Given the description of an element on the screen output the (x, y) to click on. 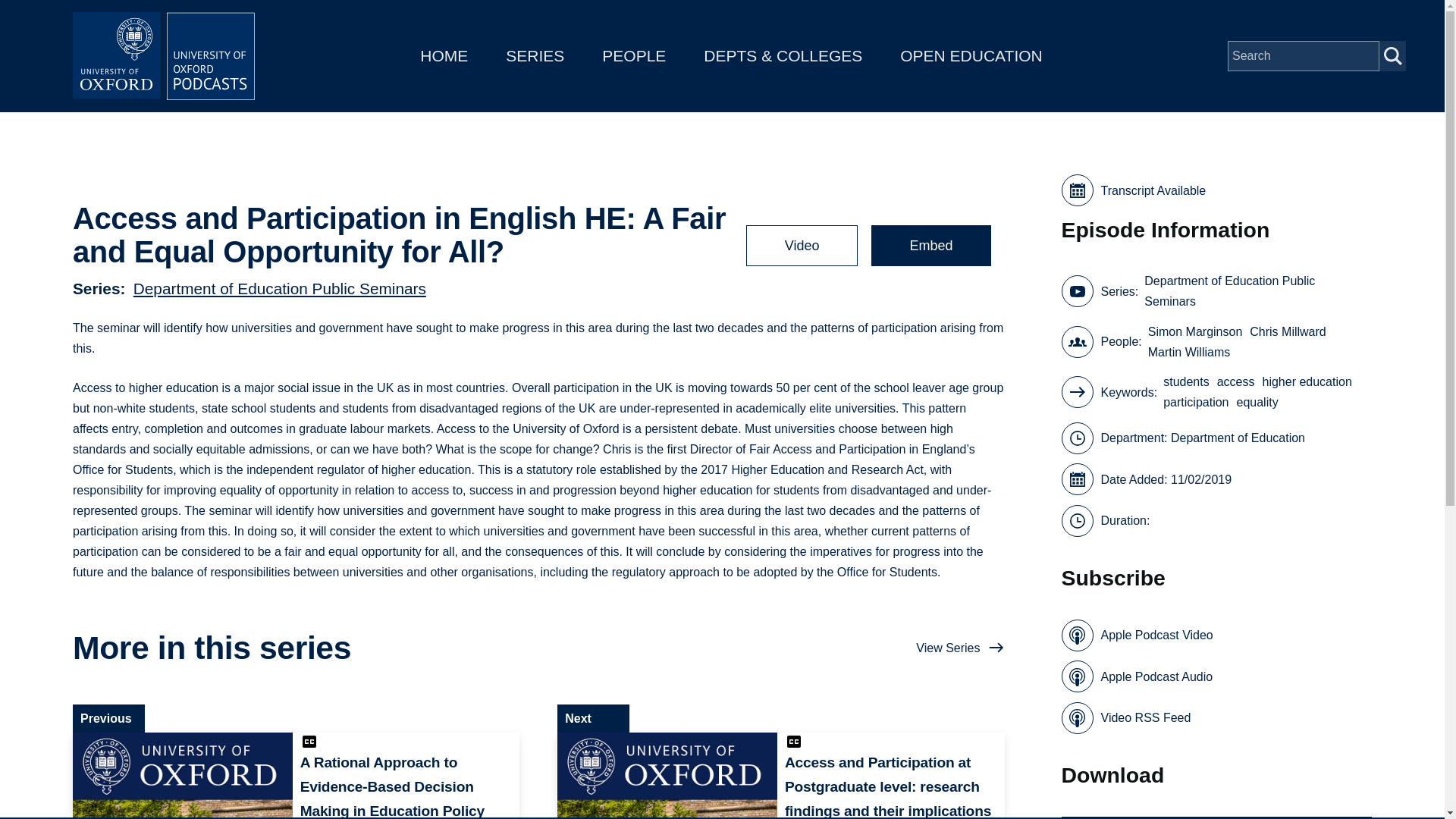
Embed (930, 245)
Video (802, 245)
Apple Podcast Audio (1136, 676)
Martin Williams (1189, 352)
SERIES (534, 55)
Department of Education Public Seminars (279, 287)
equality (1257, 402)
students (1185, 381)
